Given the description of an element on the screen output the (x, y) to click on. 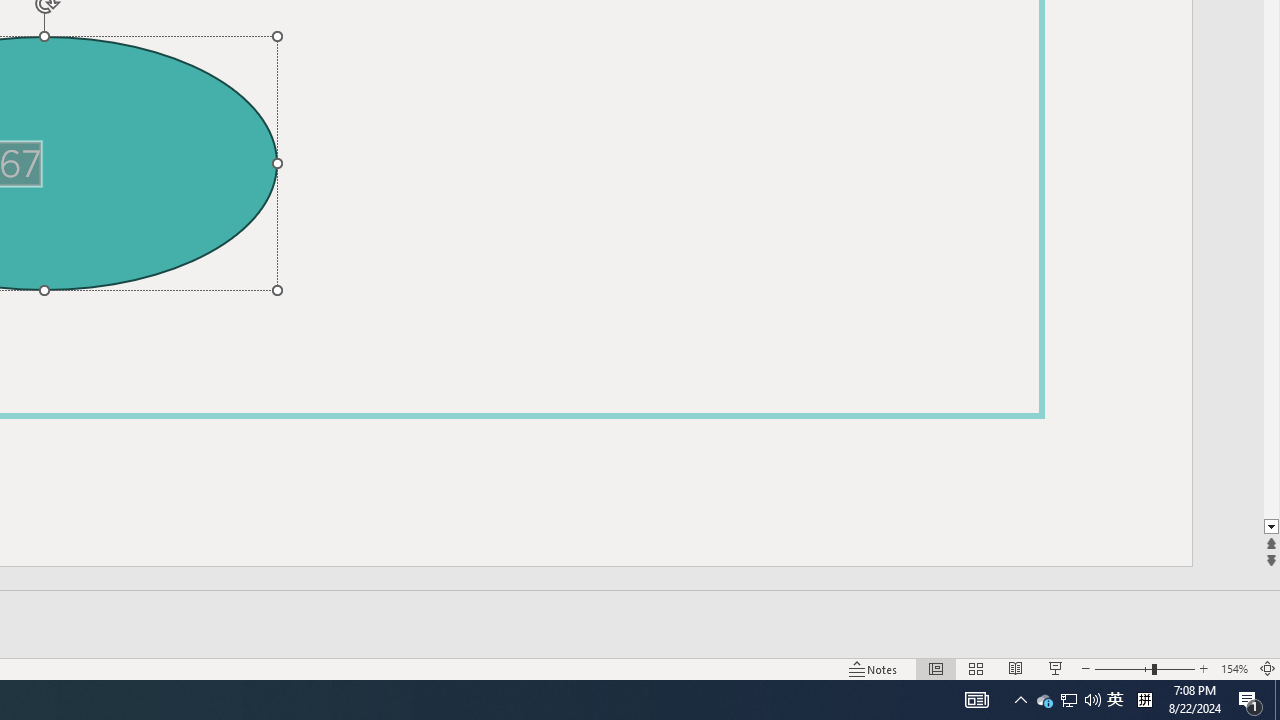
Zoom 154% (1234, 668)
